Given the description of an element on the screen output the (x, y) to click on. 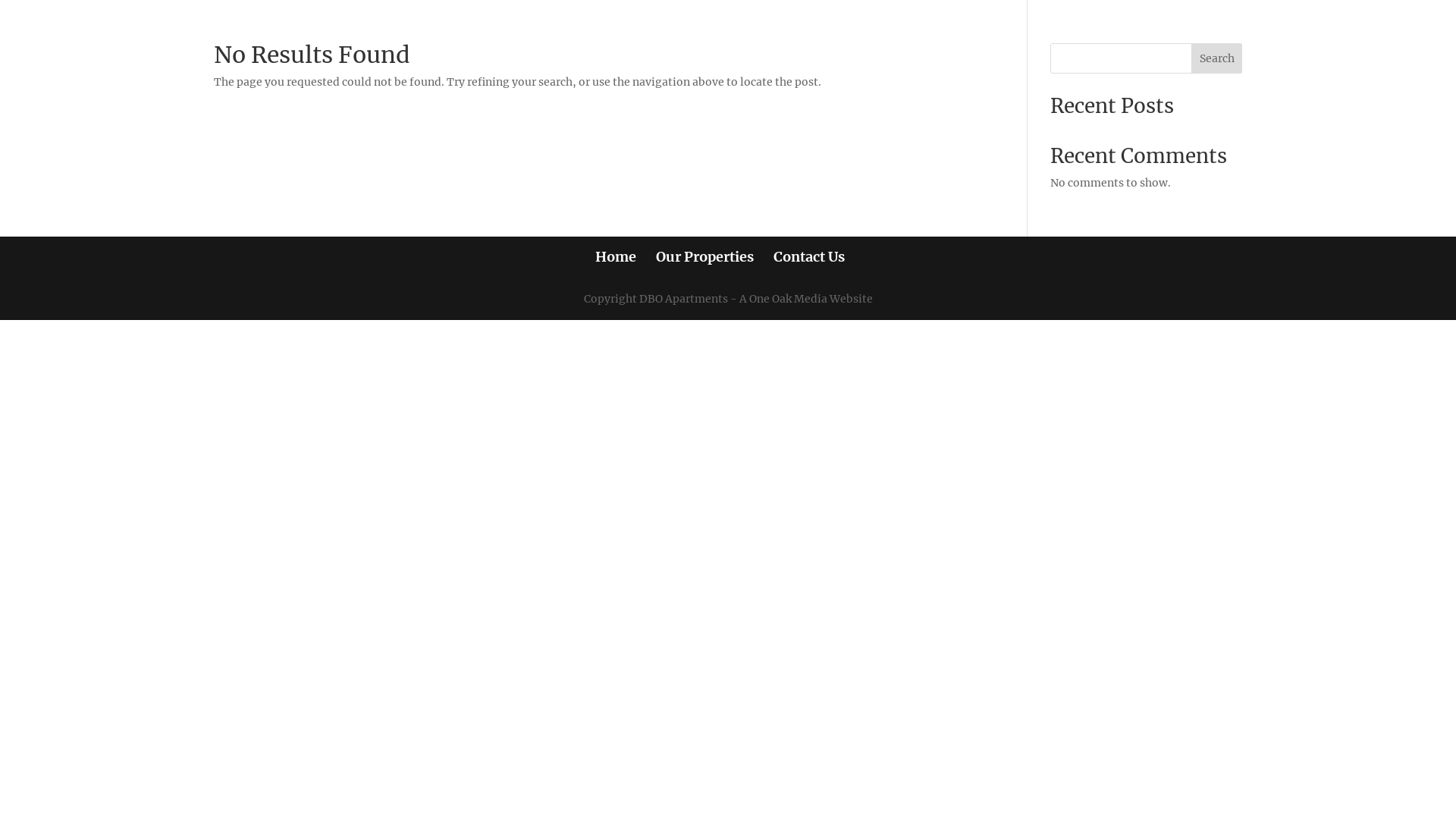
Home Element type: text (614, 256)
Contact Us Element type: text (808, 256)
Our Properties Element type: text (704, 256)
Search Element type: text (1216, 58)
